Given the description of an element on the screen output the (x, y) to click on. 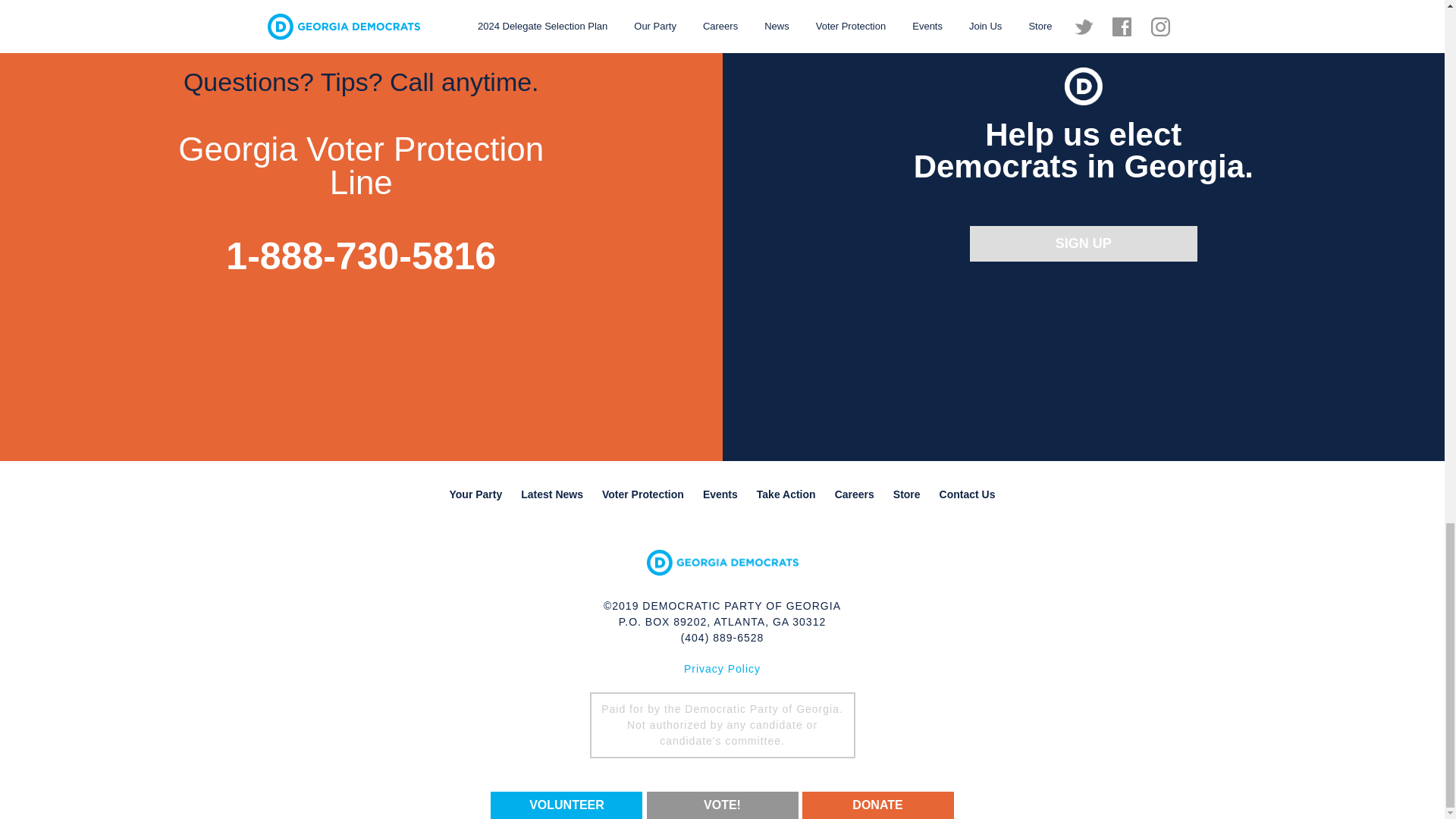
Take Action (786, 494)
Careers (854, 494)
Store (906, 494)
SIGN UP (1082, 243)
Your Party (475, 494)
Latest News (552, 494)
Voter Protection (642, 494)
Events (720, 494)
SIGN UP (1083, 243)
Contact Us (967, 494)
